Given the description of an element on the screen output the (x, y) to click on. 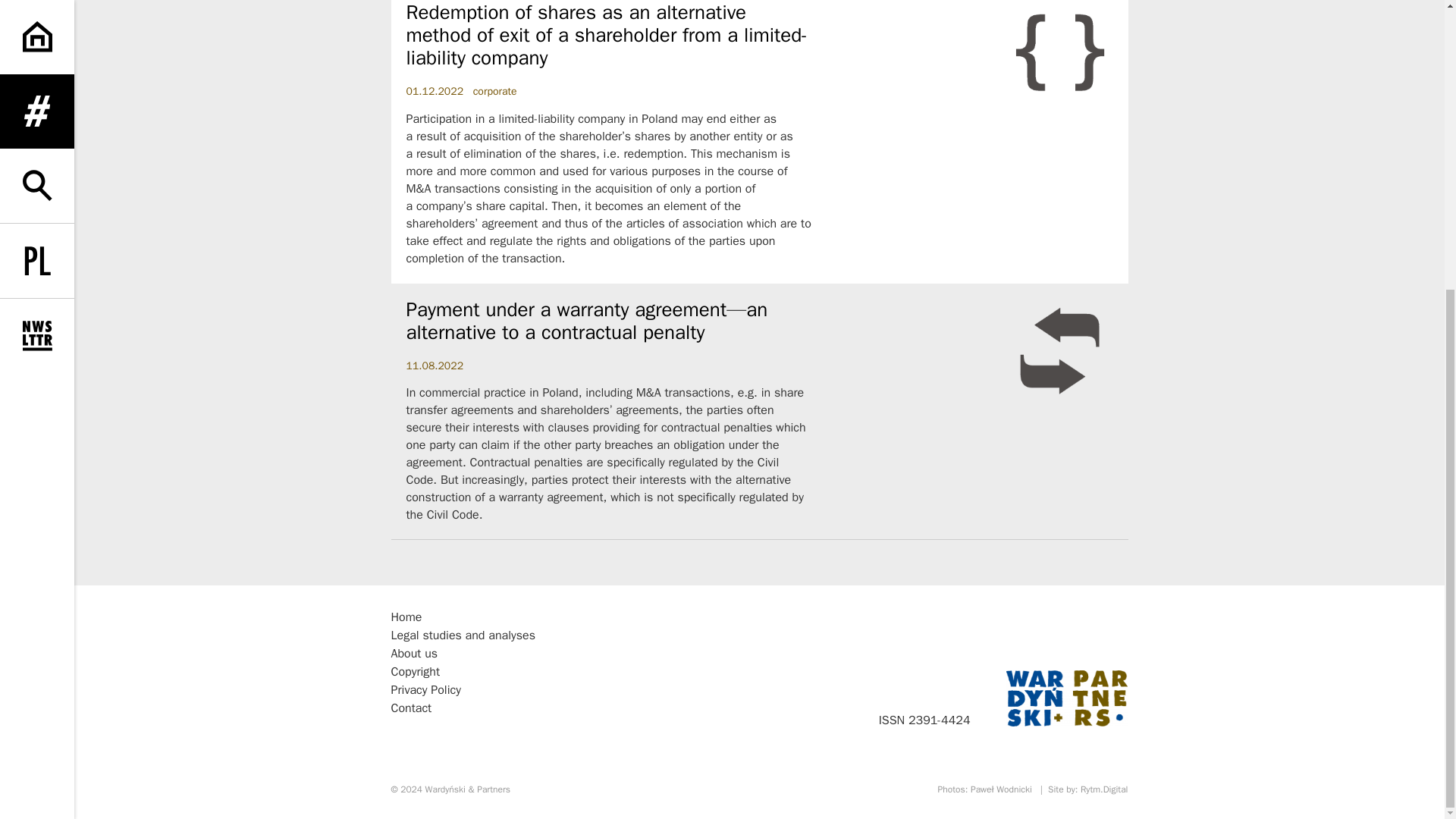
Note, the link will open in a new window (1001, 788)
Note, the link will open in a new window (1104, 788)
Note, the link will open in a new window (468, 788)
Note, the link will open in a new window (1066, 697)
